Given the description of an element on the screen output the (x, y) to click on. 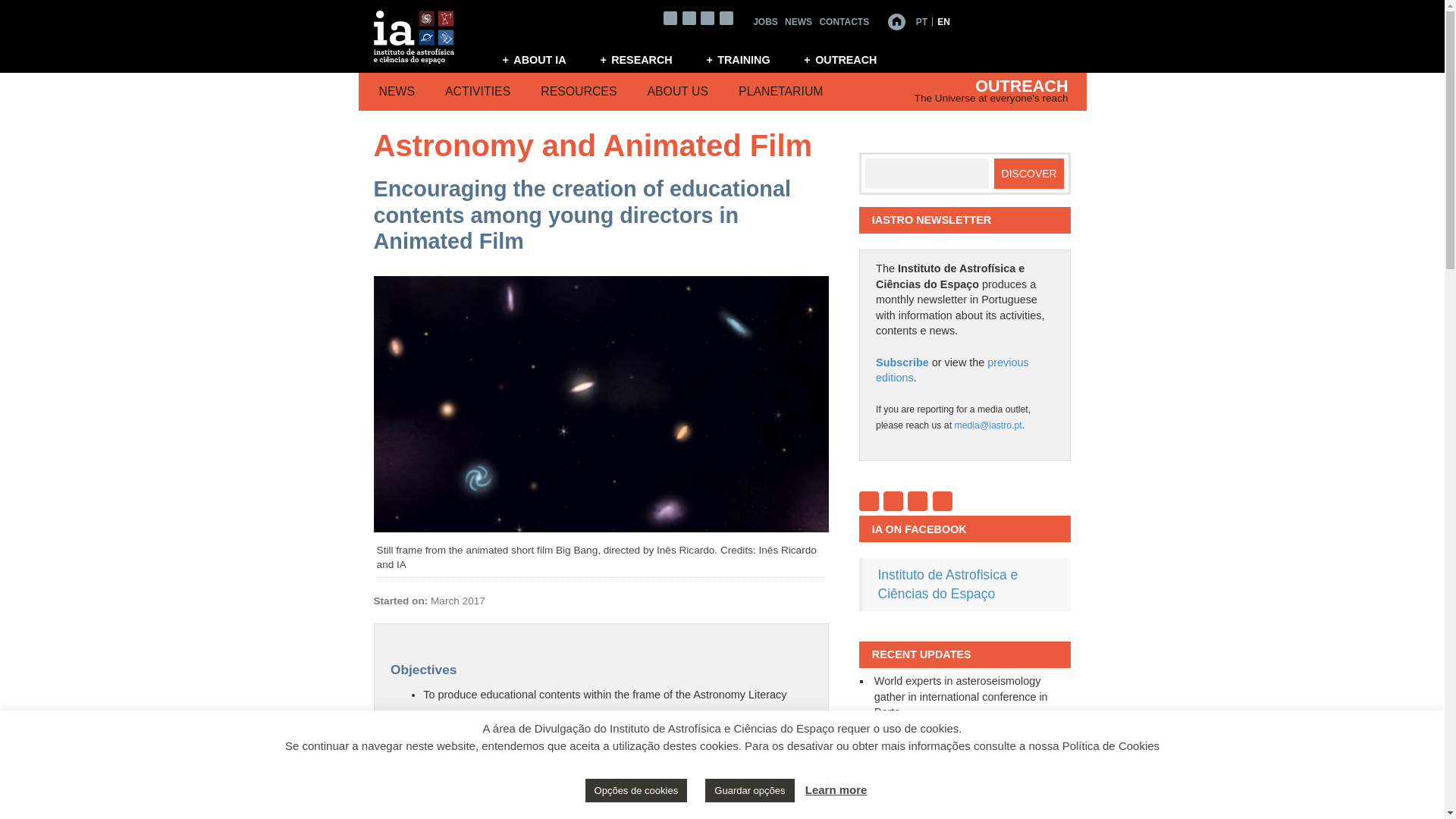
NEWS (798, 21)
Discover (1029, 173)
OUTREACH (849, 58)
Home (896, 21)
CONTACTS (843, 21)
ABOUT IA (542, 58)
JOBS (764, 21)
PT (921, 21)
EN (943, 21)
TRAINING (747, 58)
RESEARCH (645, 58)
